Given the description of an element on the screen output the (x, y) to click on. 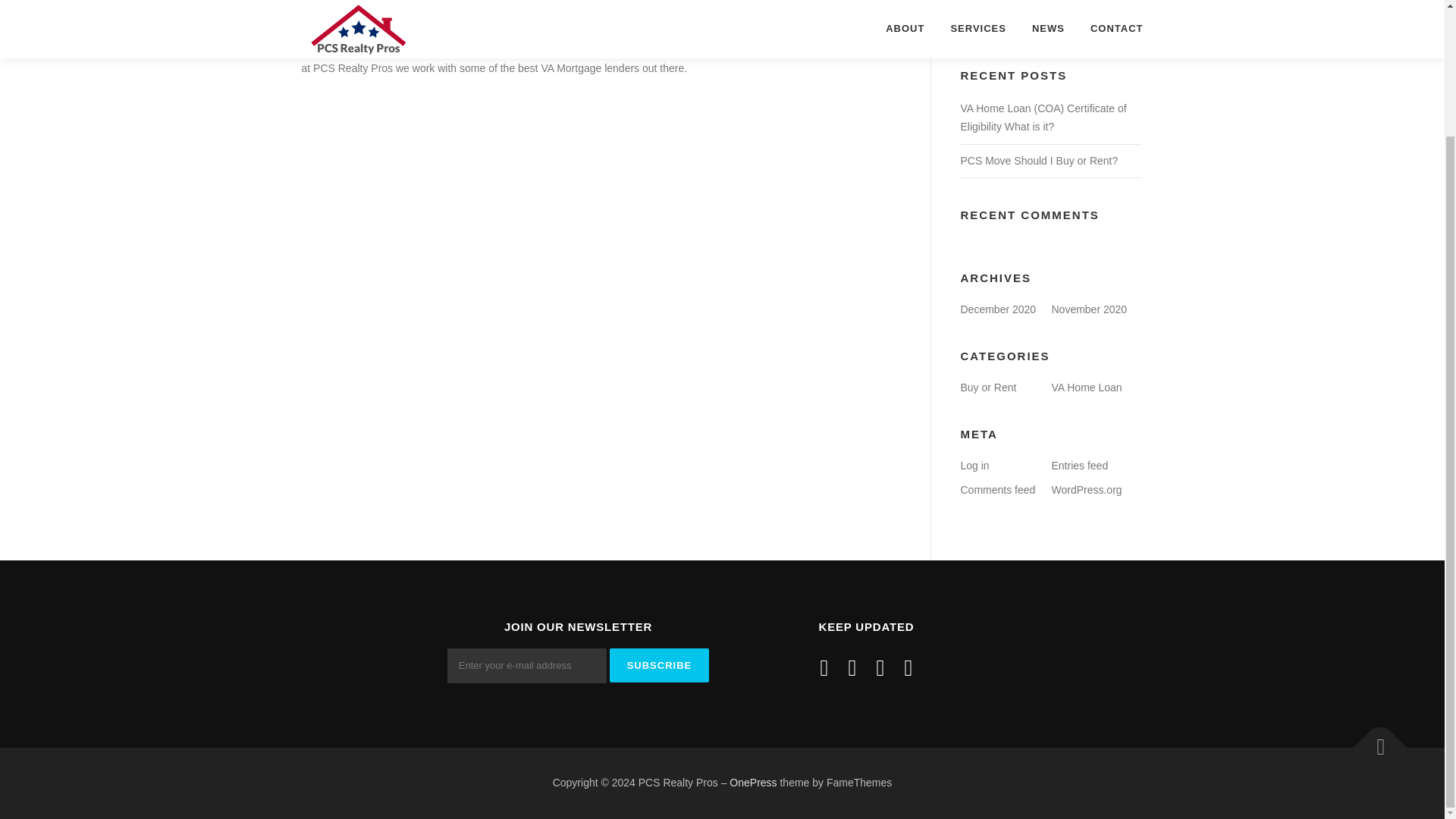
WordPress.org (1086, 490)
PCS Move Should I Buy or Rent? (1038, 160)
Comments feed (997, 490)
VA Home Loan (1086, 387)
OnePress (752, 782)
Search (1101, 21)
Search (1101, 21)
Entries feed (1079, 465)
Subscribe (660, 665)
Log in (973, 465)
December 2020 (997, 309)
Subscribe (660, 665)
Search (1101, 21)
Buy or Rent (987, 387)
Back To Top (1372, 740)
